Given the description of an element on the screen output the (x, y) to click on. 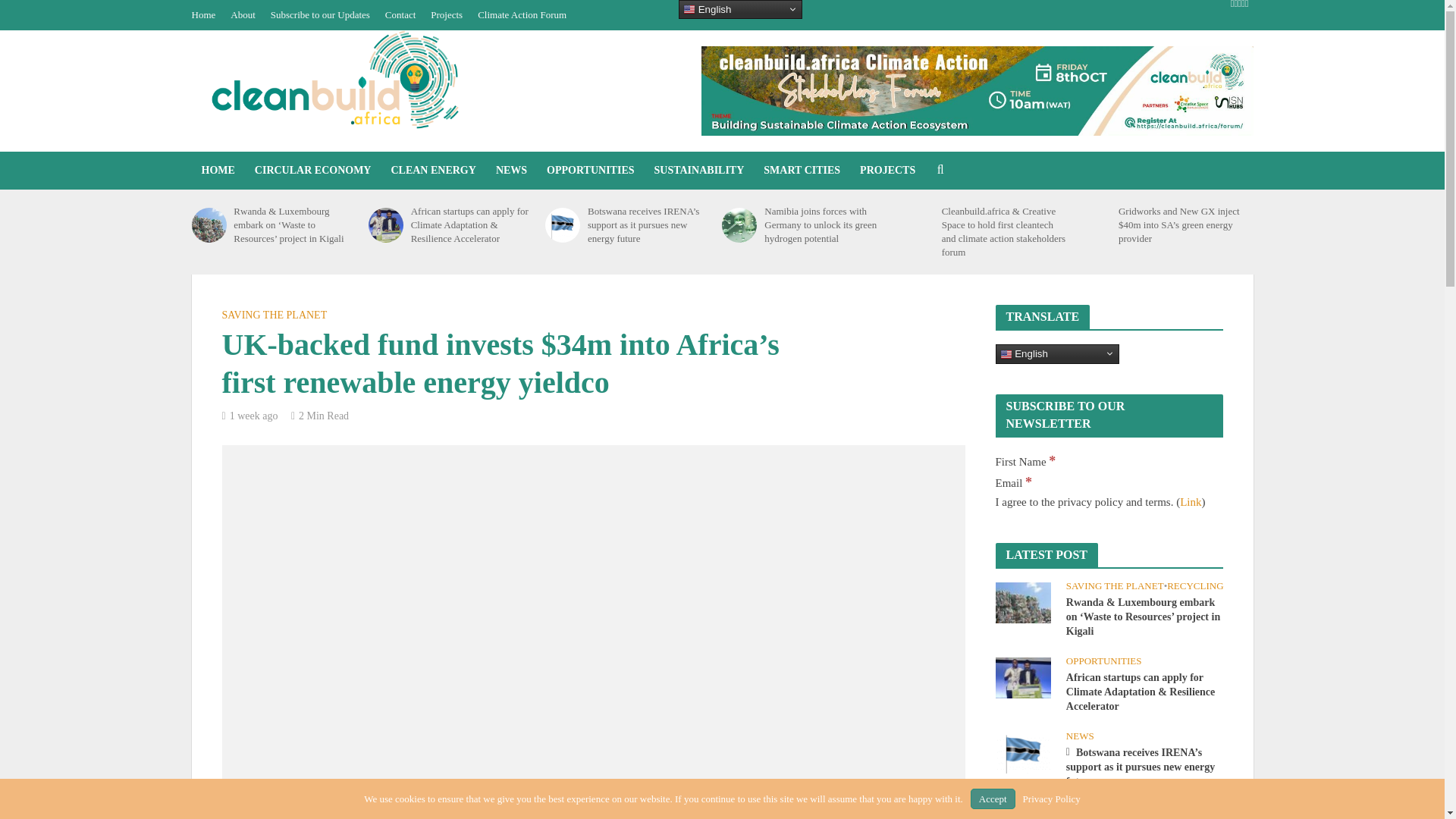
Projects (446, 15)
HOME (217, 170)
About (242, 15)
Subscribe to our Updates (320, 15)
Home (206, 15)
CLEAN ENERGY (432, 170)
Contact (400, 15)
PROJECTS (887, 170)
NEWS (511, 170)
OPPORTUNITIES (590, 170)
SUSTAINABILITY (699, 170)
SMART CITIES (802, 170)
Climate Action Forum (521, 15)
